Given the description of an element on the screen output the (x, y) to click on. 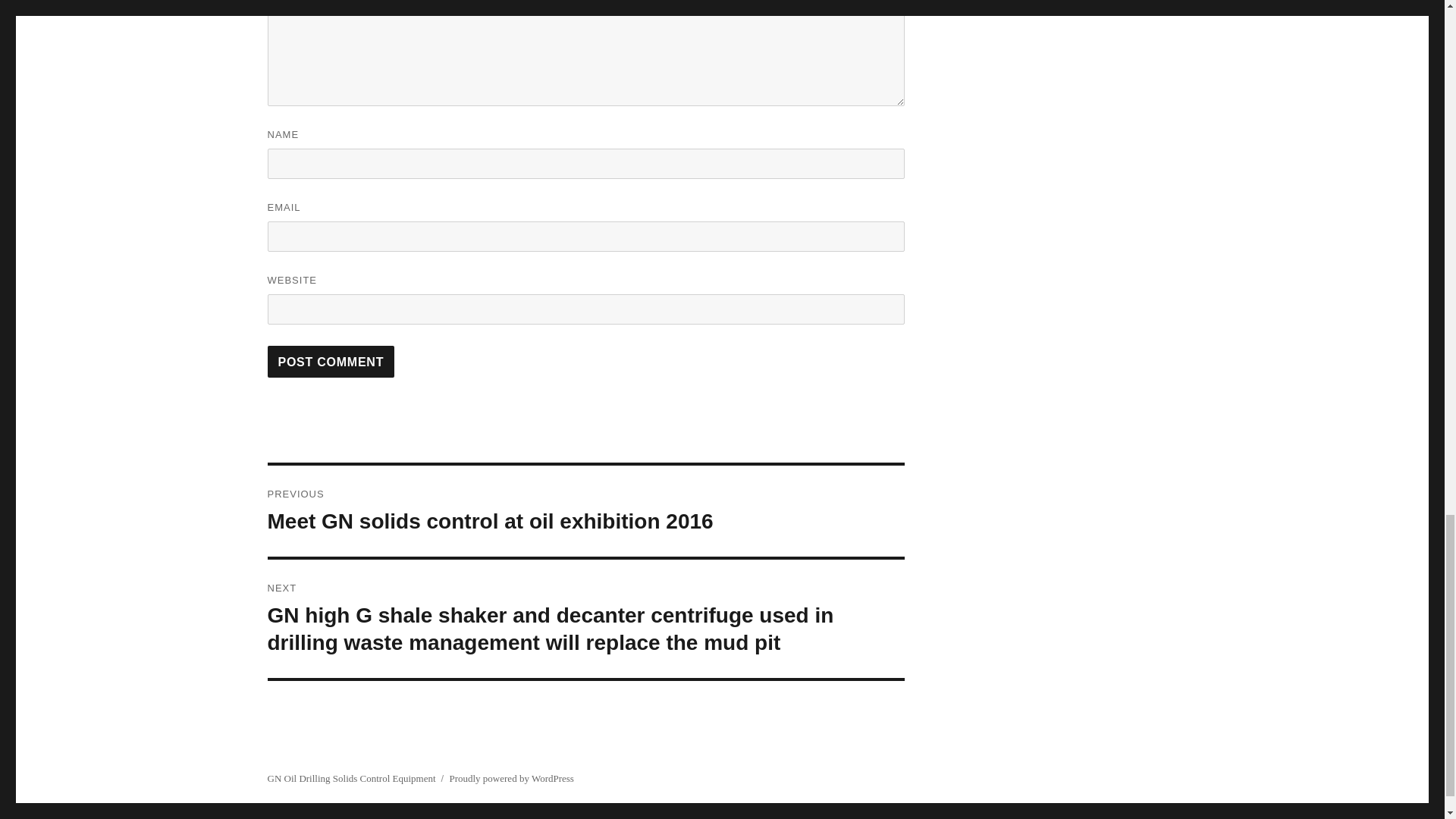
Proudly powered by WordPress (510, 778)
Post Comment (330, 361)
Post Comment (330, 361)
GN Oil Drilling Solids Control Equipment (350, 778)
